Given the description of an element on the screen output the (x, y) to click on. 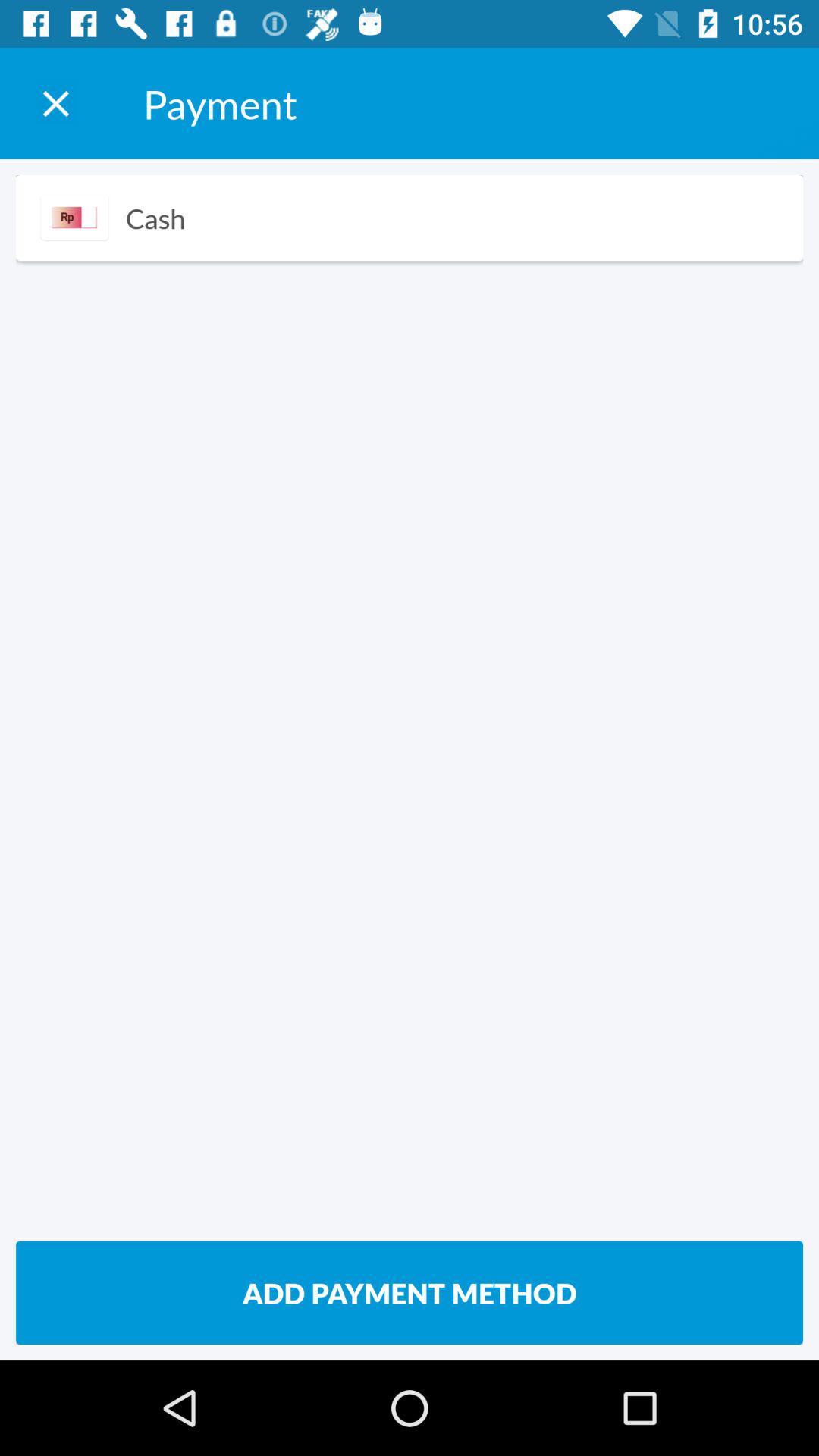
flip to the cash icon (155, 218)
